Given the description of an element on the screen output the (x, y) to click on. 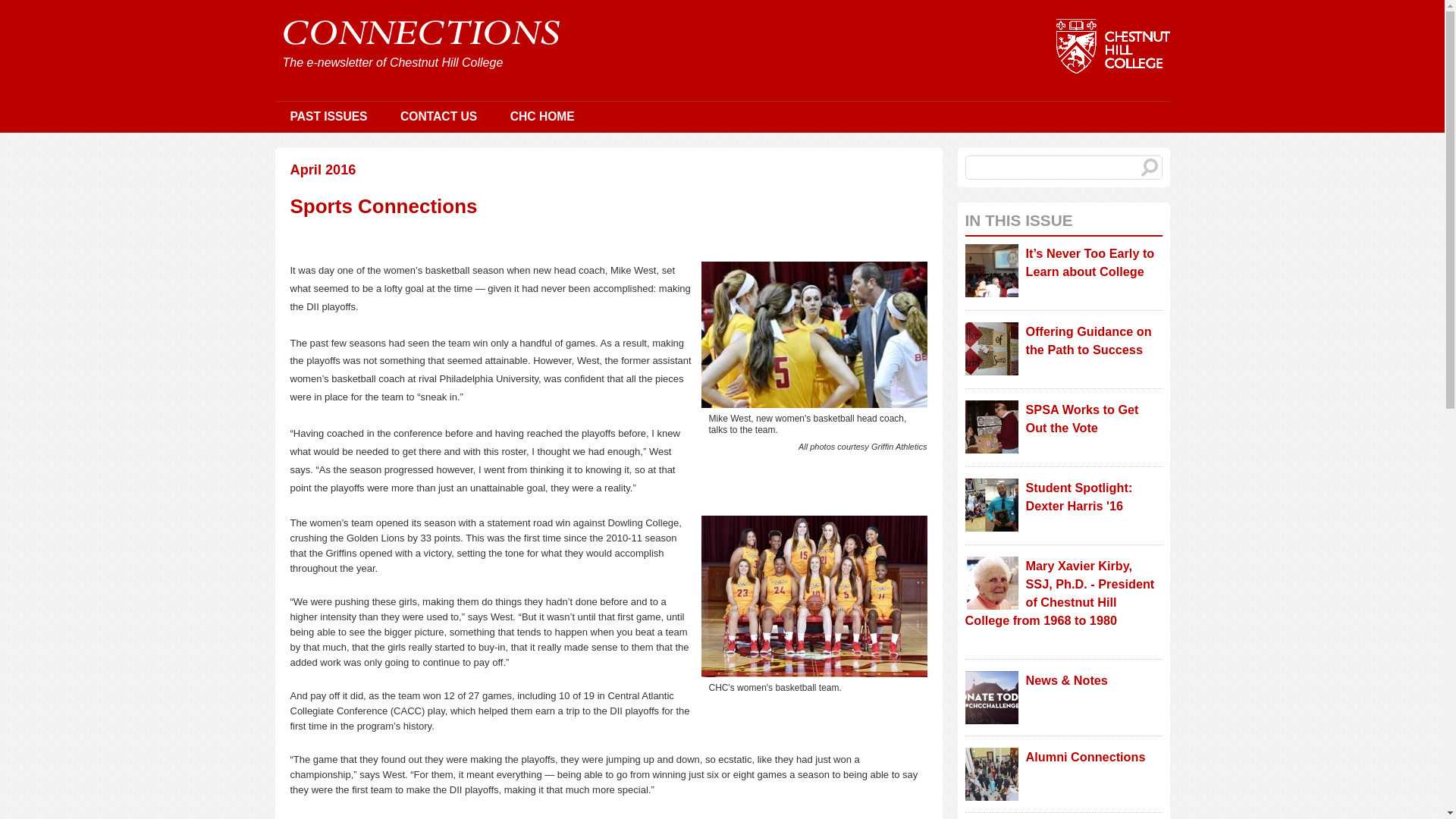
Alumni Connections (1084, 756)
Search (1149, 167)
Search (1149, 167)
Offering Guidance on the Path to Success (1088, 340)
Skip to main content (677, 1)
PAST ISSUES (328, 116)
CHC HOME (542, 116)
April 2016 (322, 169)
Chestnut Hill College (446, 62)
SPSA Works to Get Out the Vote (1081, 418)
Enter the terms you wish to search for. (1062, 167)
CONTACT US (438, 116)
Student Spotlight: Dexter Harris '16 (1078, 496)
